Given the description of an element on the screen output the (x, y) to click on. 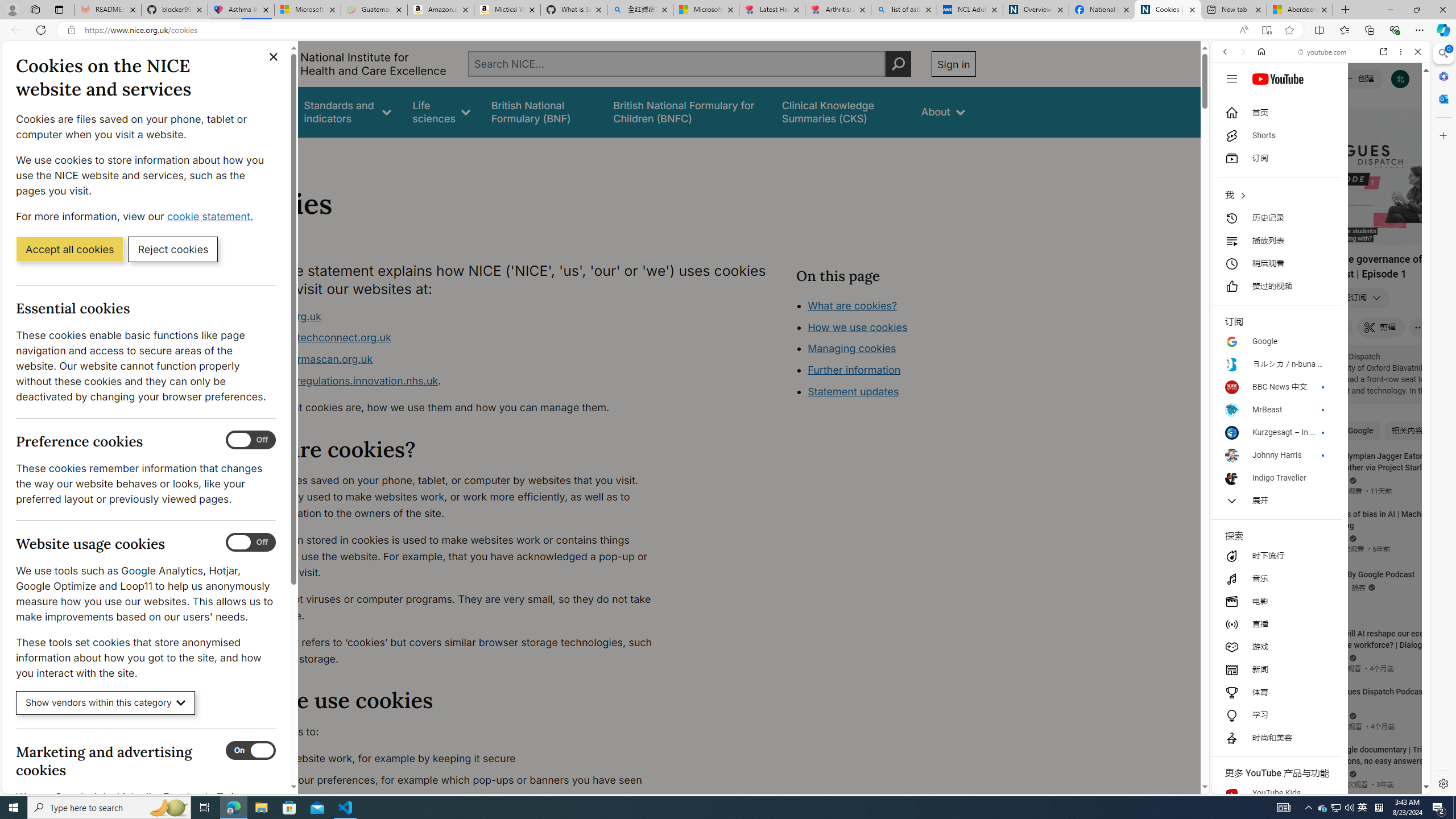
www.digitalregulations.innovation.nhs.uk. (452, 380)
Enter Immersive Reader (F9) (1266, 29)
YouTube (1315, 655)
US[ju] (1249, 785)
Managing cookies (852, 348)
